Given the description of an element on the screen output the (x, y) to click on. 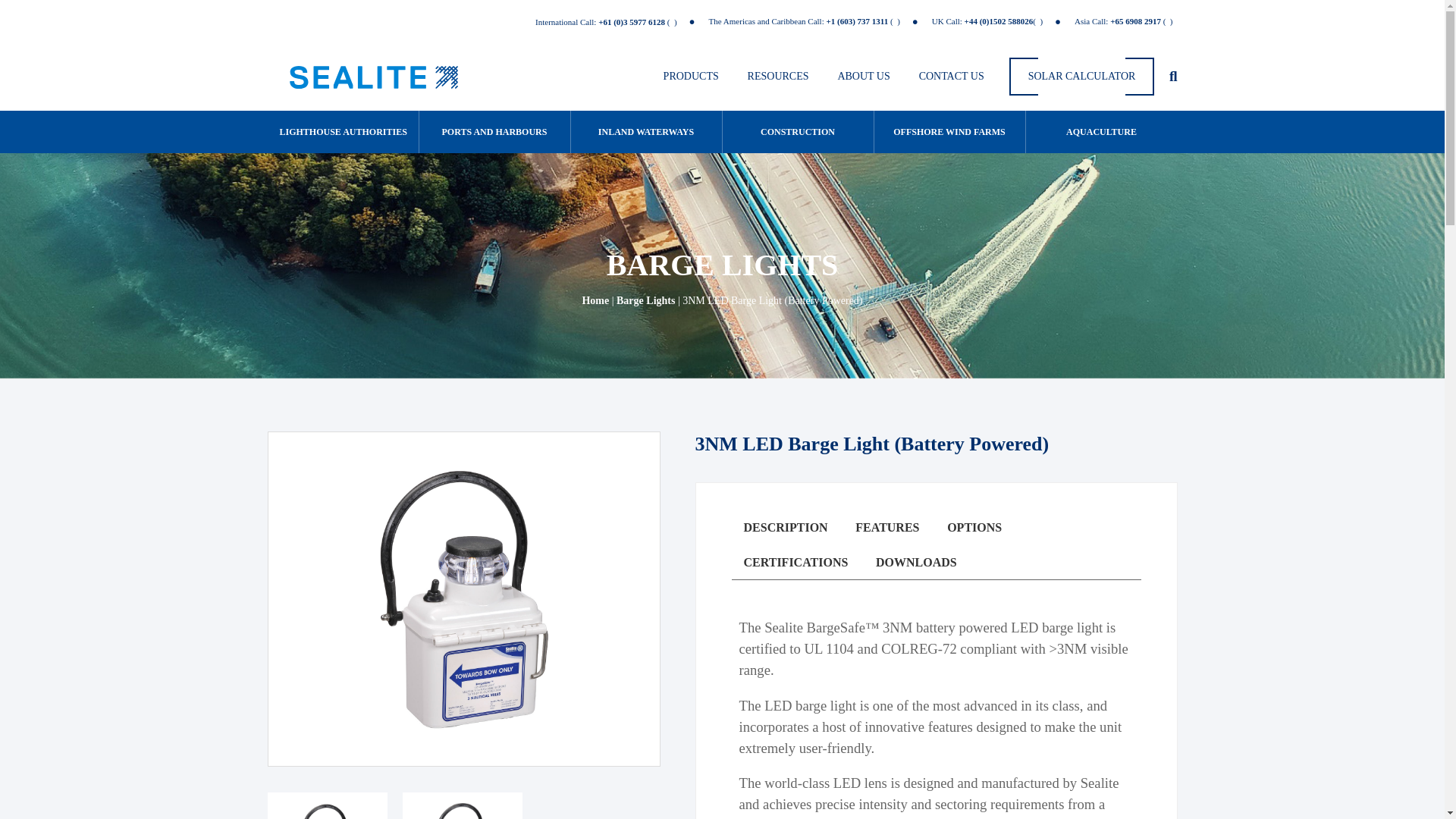
PRODUCTS (690, 76)
ABOUT US (863, 76)
RESOURCES (778, 76)
